Given the description of an element on the screen output the (x, y) to click on. 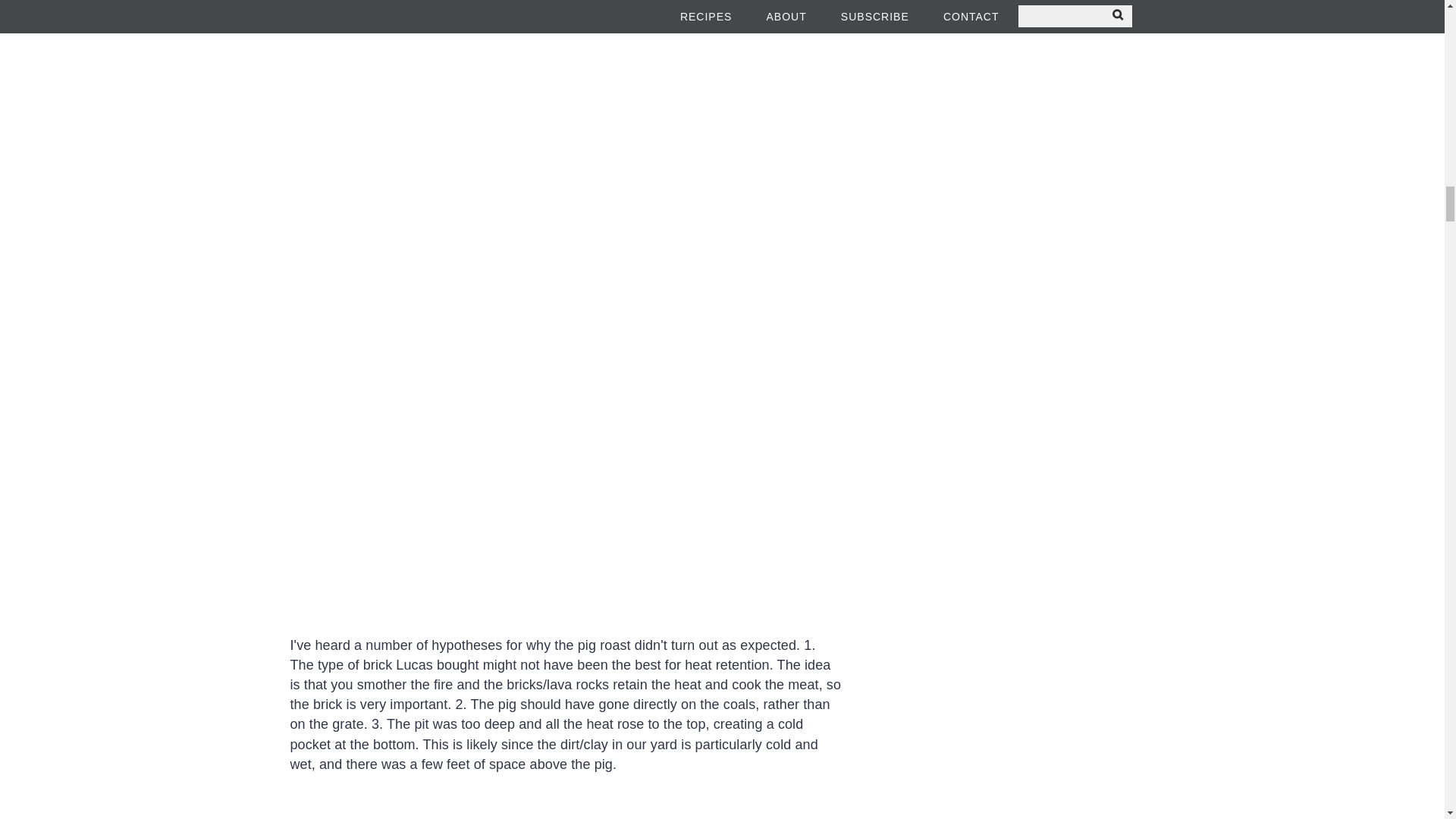
Backyard Pig Roast (565, 806)
Backyard Pig Roast (565, 95)
